Given the description of an element on the screen output the (x, y) to click on. 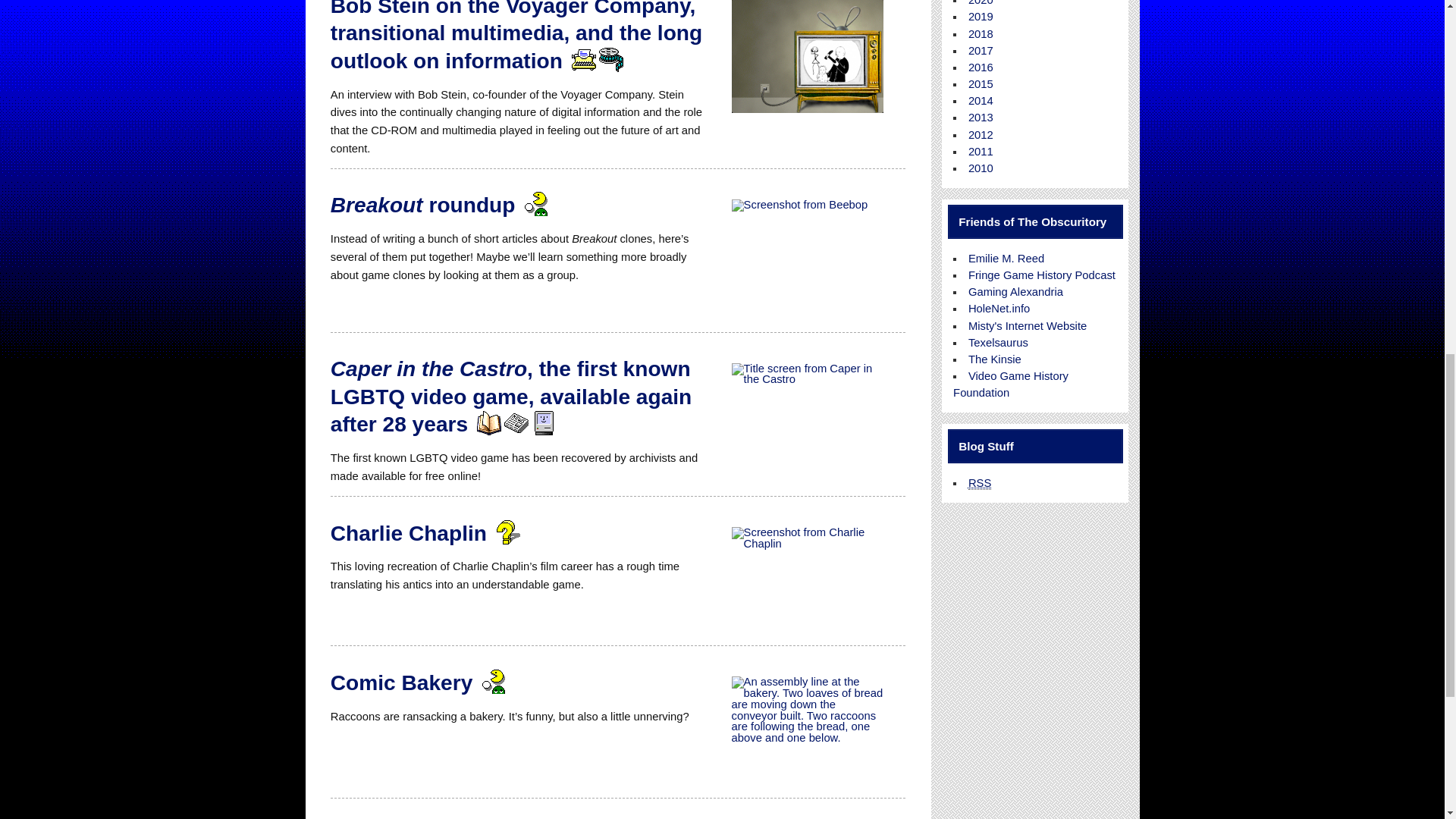
Breakout roundup (422, 205)
Charlie Chaplin (408, 533)
